Given the description of an element on the screen output the (x, y) to click on. 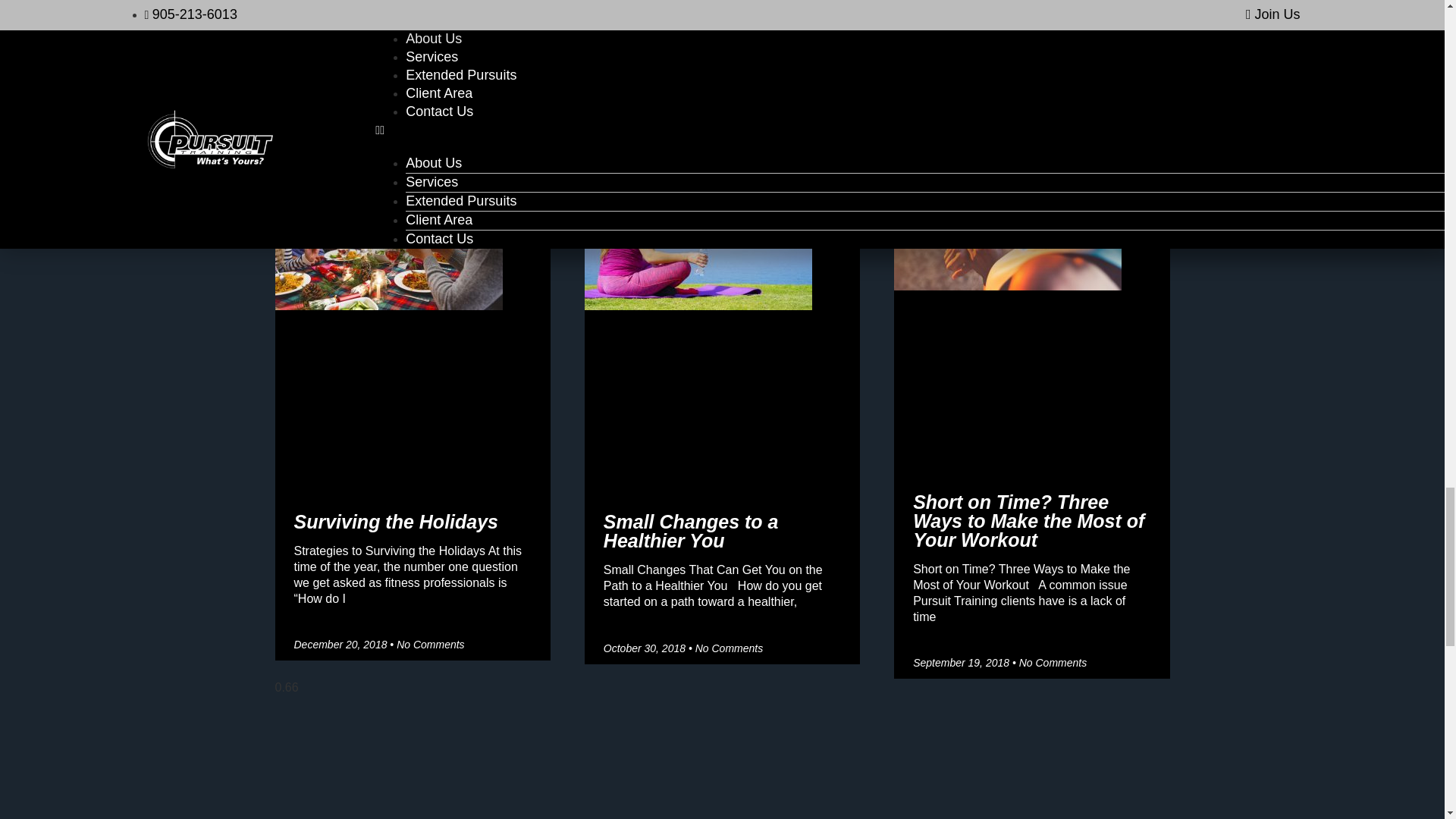
Surviving the Holidays (396, 521)
Small Changes to a Healthier You (691, 531)
Short on Time? Three Ways to Make the Most of Your Workout (1028, 520)
